Given the description of an element on the screen output the (x, y) to click on. 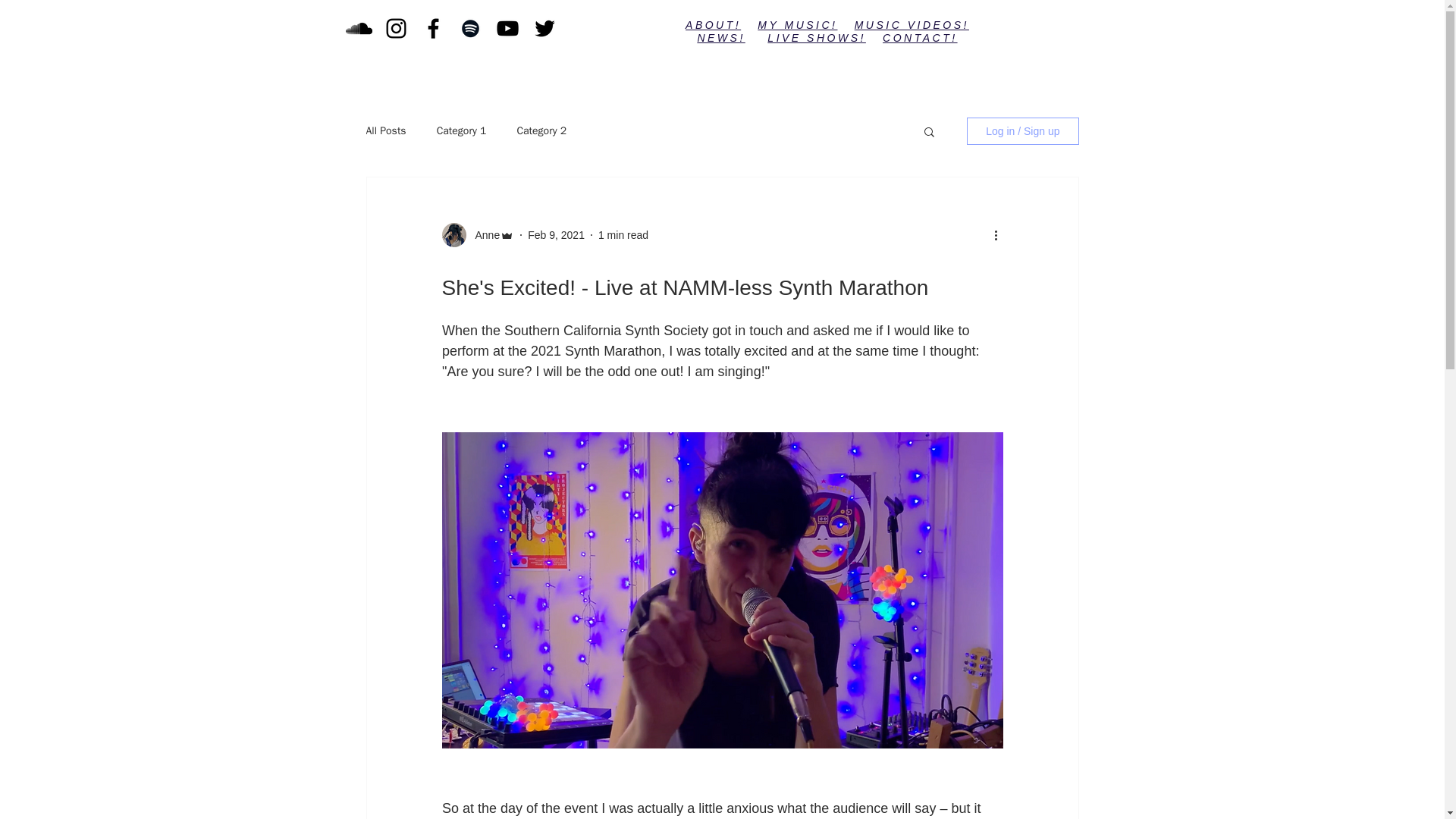
ABOUT! (713, 24)
MUSIC VIDEOS! (911, 24)
Category 2 (541, 131)
Category 1 (461, 131)
1 min read (622, 234)
CONTACT! (920, 37)
LIVE SHOWS! (816, 37)
Feb 9, 2021 (556, 234)
Anne (482, 235)
NEWS! (720, 37)
MY MUSIC! (797, 24)
All Posts (385, 131)
